Given the description of an element on the screen output the (x, y) to click on. 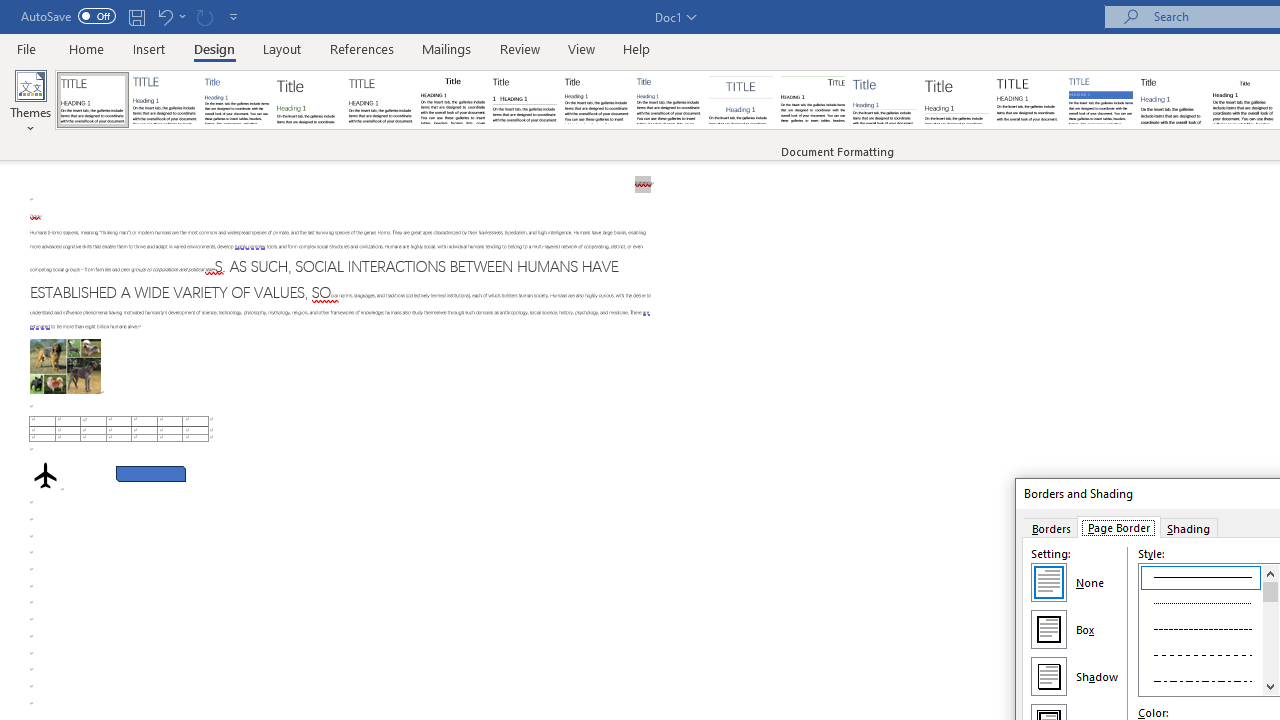
Airplane with solid fill (45, 475)
Word (1172, 100)
Basic (Simple) (236, 100)
